Given the description of an element on the screen output the (x, y) to click on. 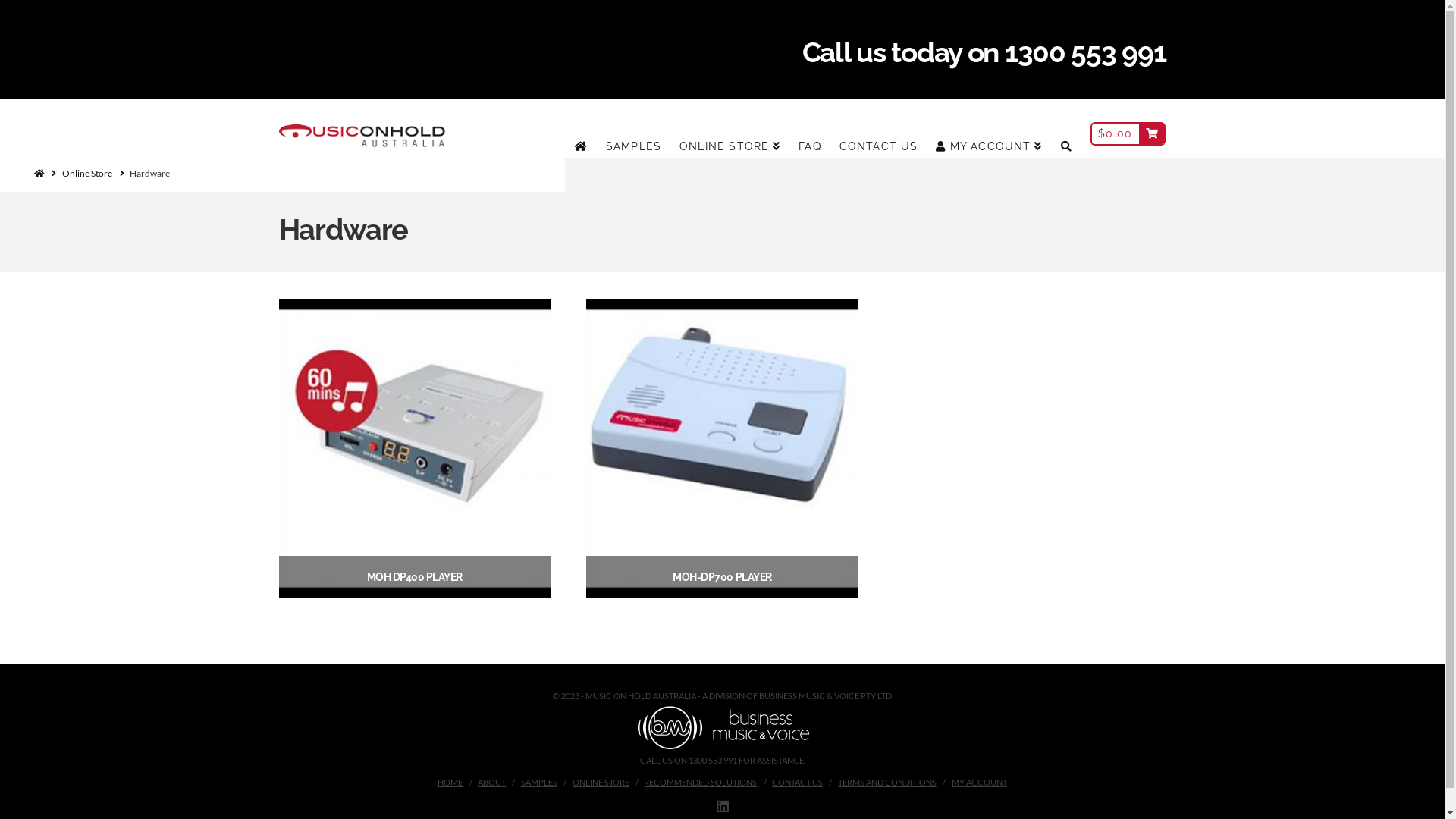
MOH DP400 PLAYER Element type: text (414, 577)
HOME Element type: text (449, 782)
LinkedIn Element type: hover (721, 805)
ABOUT Element type: text (491, 782)
ONLINE STORE Element type: text (729, 127)
TERMS AND CONDITIONS Element type: text (886, 782)
MY ACCOUNT Element type: text (979, 782)
SAMPLES Element type: text (538, 782)
$0.00 Element type: text (1128, 127)
MY ACCOUNT Element type: text (988, 127)
Hardware Element type: text (149, 173)
SAMPLES Element type: text (633, 127)
FAQ Element type: text (809, 127)
CONTACT US Element type: text (878, 127)
ONLINE STORE Element type: text (600, 782)
MOH-DP700 PLAYER Element type: text (721, 577)
Online Store Element type: text (87, 173)
CONTACT US Element type: text (796, 782)
RECOMMENDED SOLUTIONS Element type: text (699, 782)
